Given the description of an element on the screen output the (x, y) to click on. 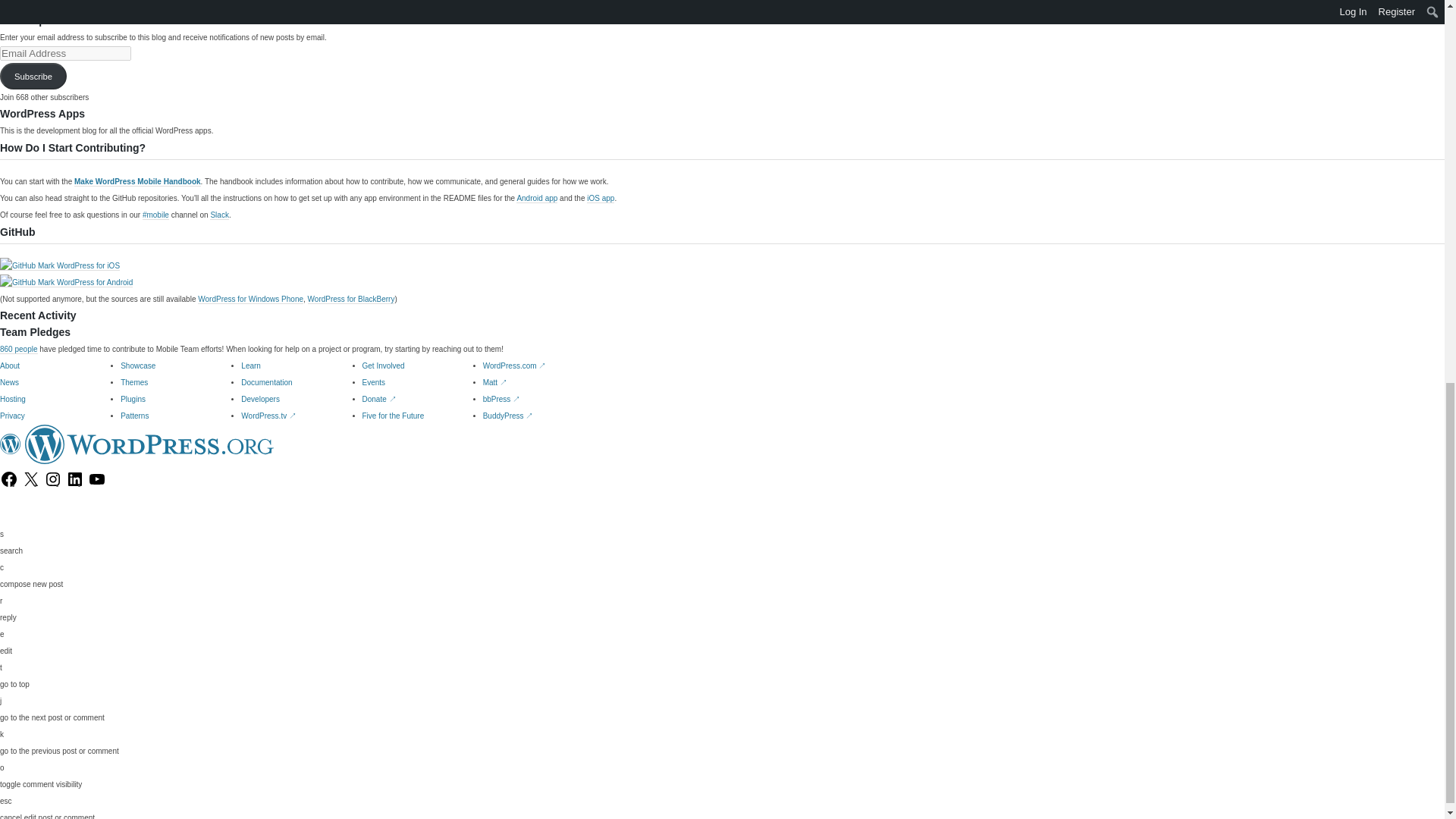
WordPress.org (149, 444)
WordPress.org (10, 444)
